Given the description of an element on the screen output the (x, y) to click on. 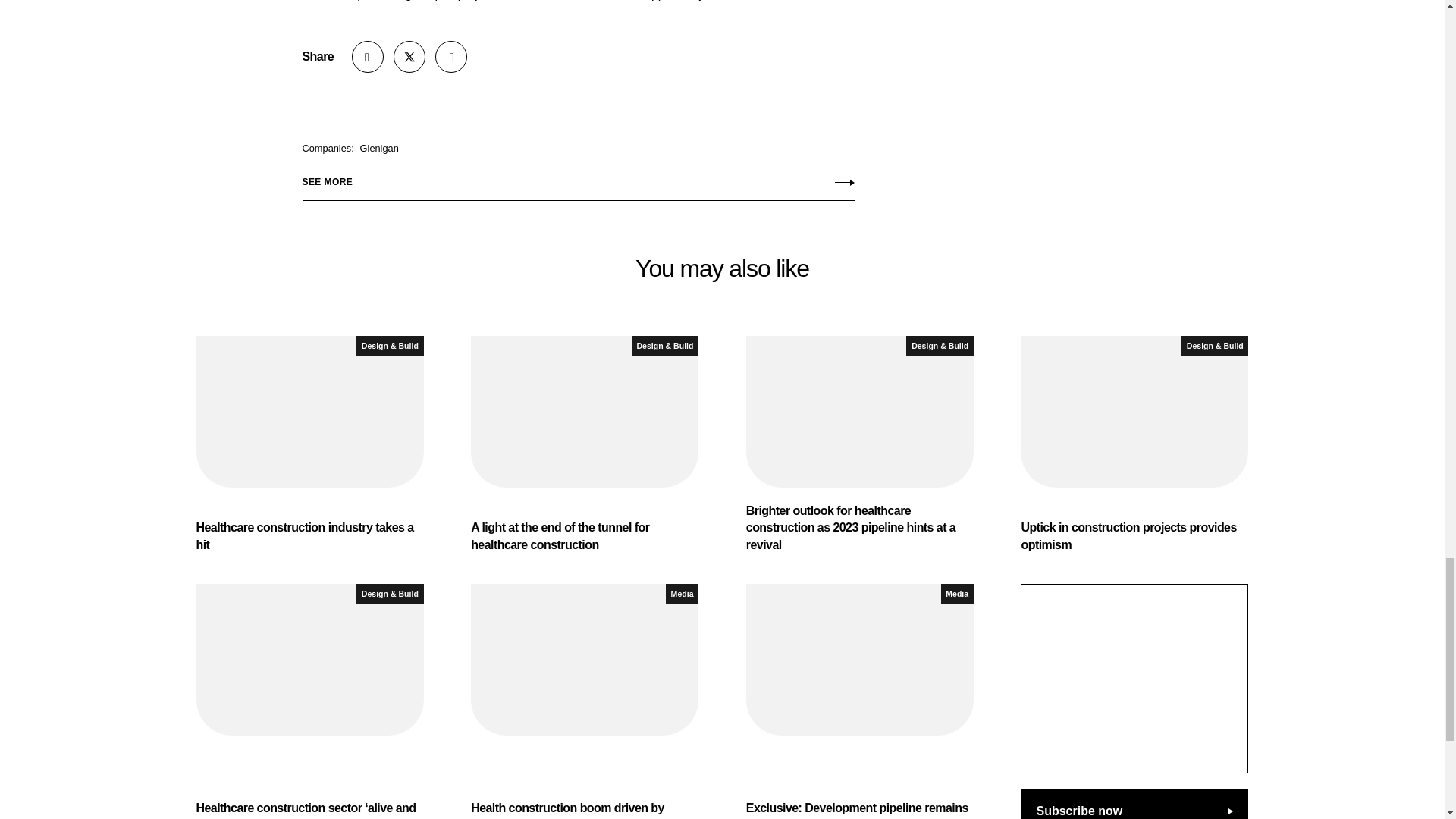
LinkedIn (451, 56)
Share (368, 56)
Share this article (368, 56)
Follow Building Better Healthcare on X (409, 56)
SEE MORE (577, 178)
Follow Building Better Healthcare on LinkedIn (451, 56)
X (409, 56)
